Given the description of an element on the screen output the (x, y) to click on. 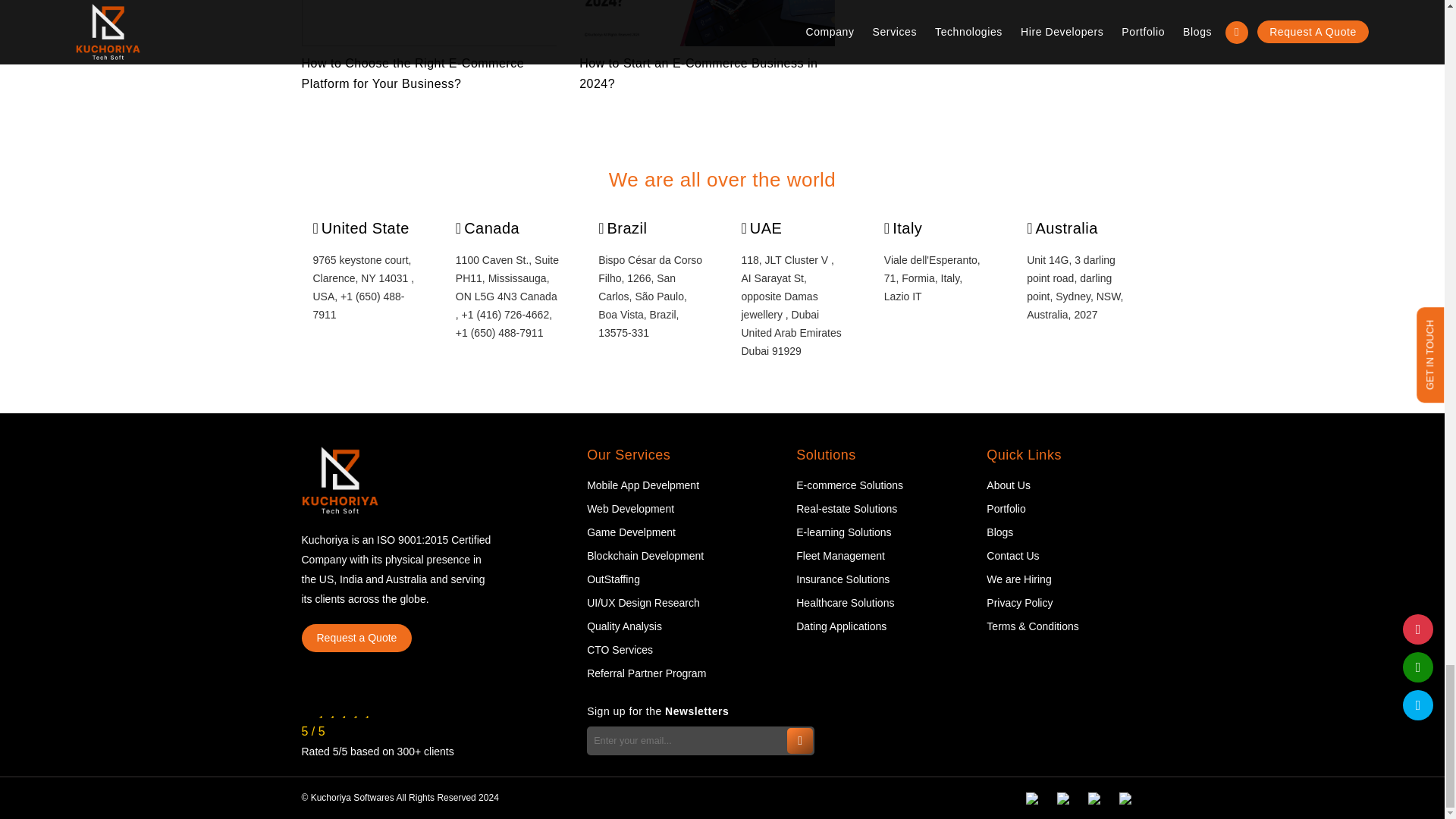
Please do not enter more than 128 characters (699, 740)
